Given the description of an element on the screen output the (x, y) to click on. 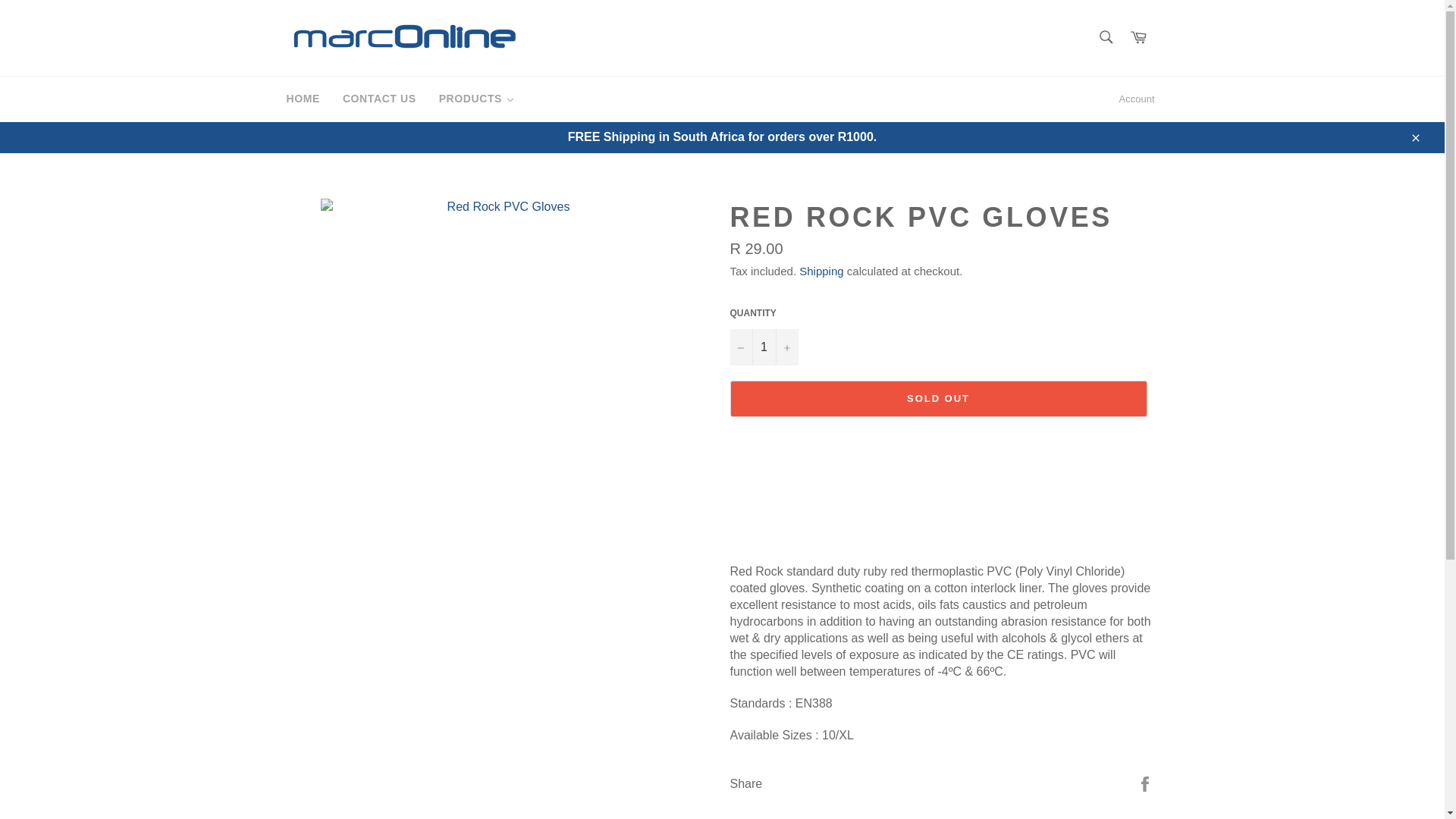
Products (476, 99)
Share on Facebook (1144, 782)
Home (302, 99)
1 (763, 347)
Contact Us (379, 99)
